Given the description of an element on the screen output the (x, y) to click on. 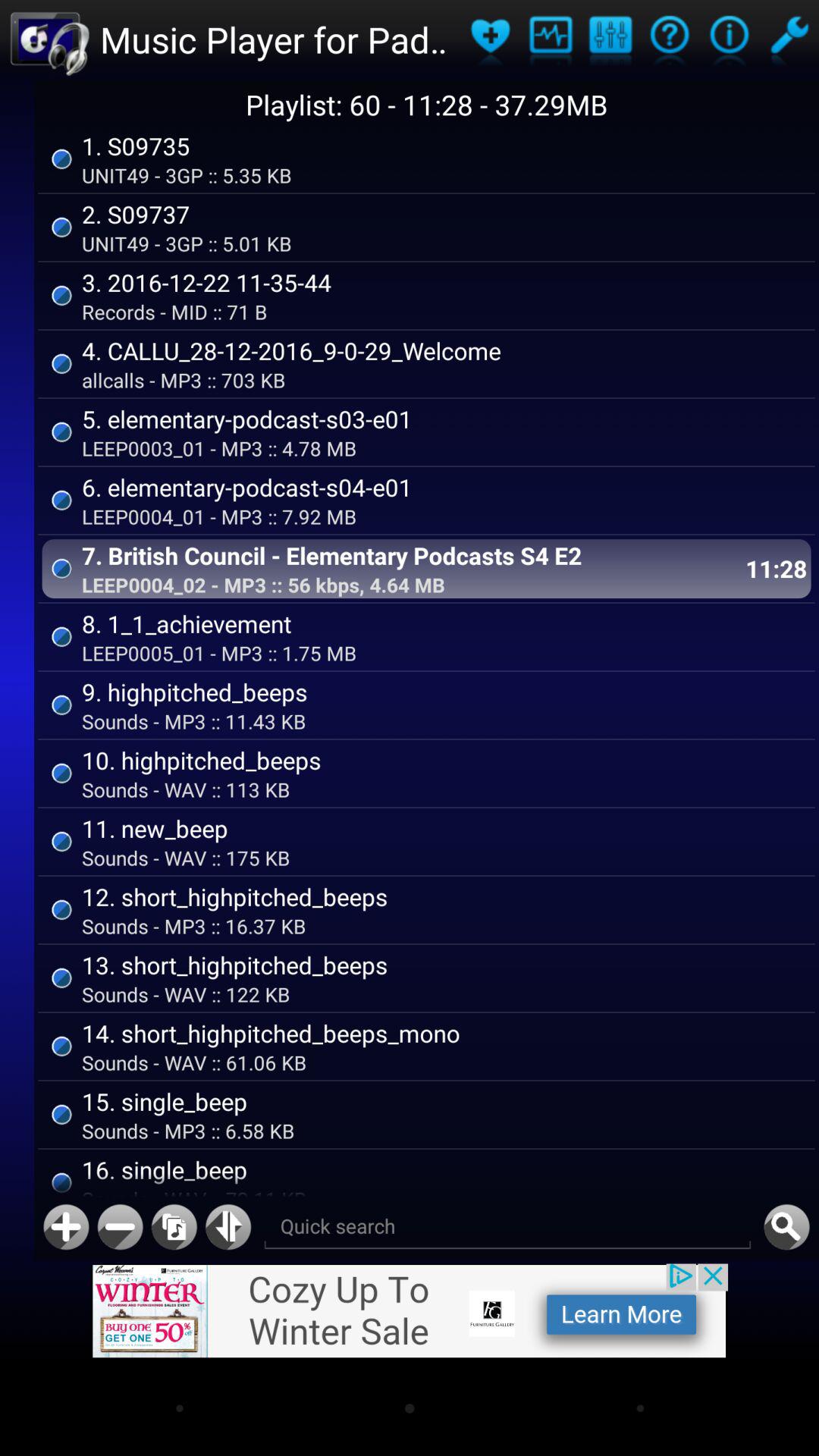
save music to documents (174, 1226)
